Given the description of an element on the screen output the (x, y) to click on. 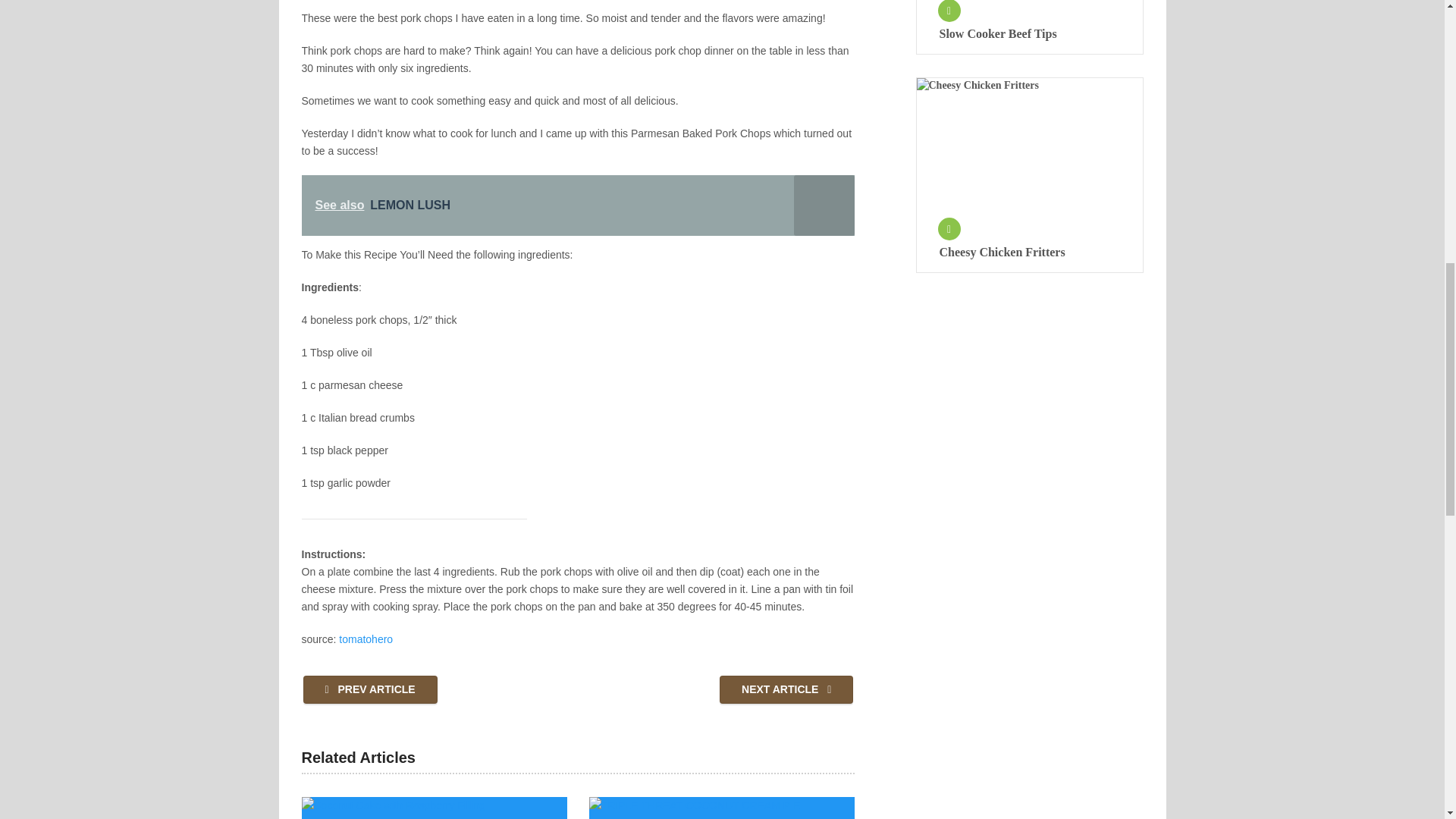
PREV ARTICLE (370, 689)
Cheesy Chicken Fritters (1029, 252)
TRIPLE THREAT COCONUT CREAM PIE (721, 807)
Coconut Cake with Raspberry Filling (434, 807)
See also  LEMON LUSH (578, 205)
tomatohero  (367, 639)
Slow Cooker Beef Tips (1029, 33)
NEXT ARTICLE (786, 689)
